Given the description of an element on the screen output the (x, y) to click on. 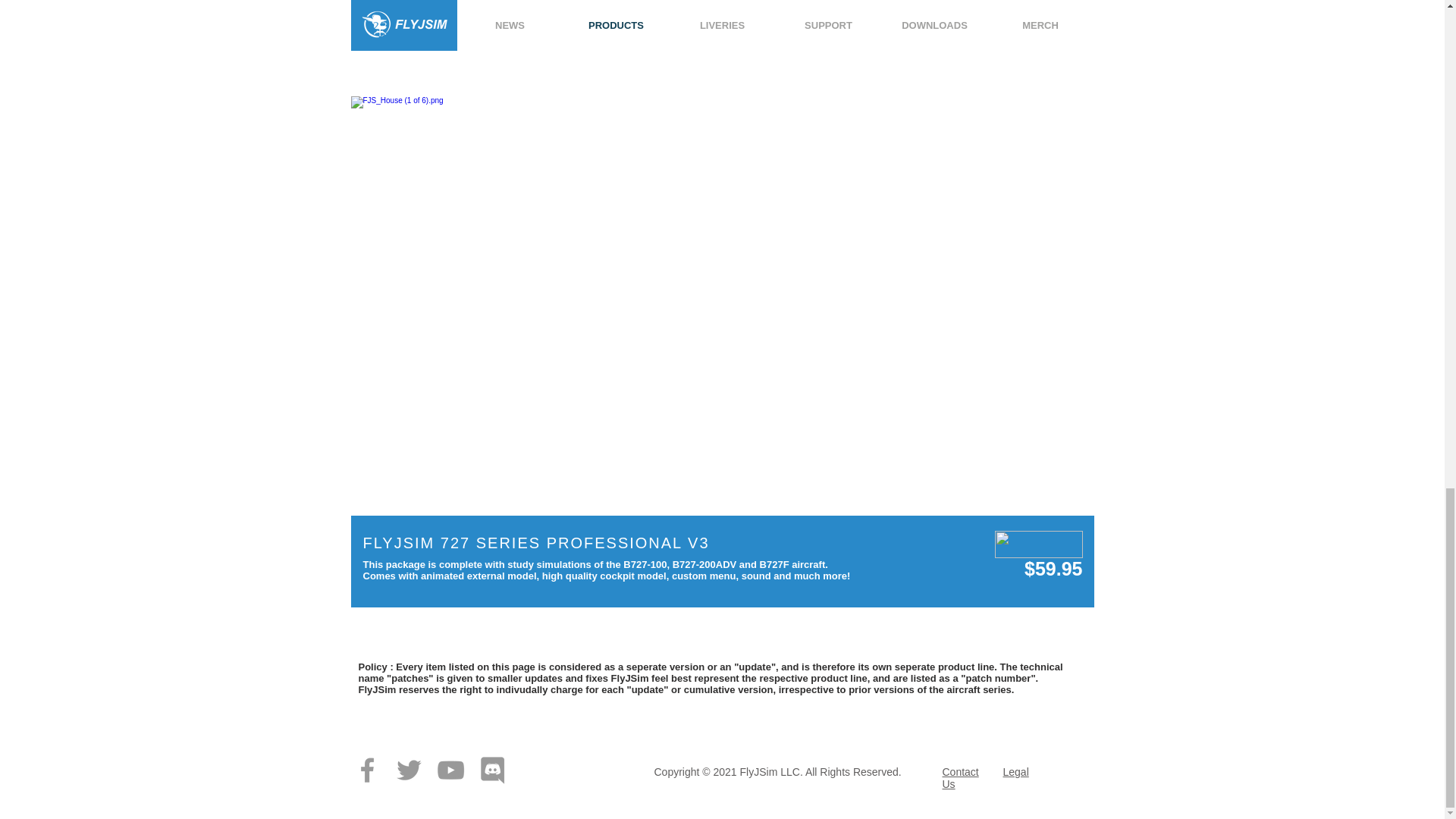
Contact Us (960, 777)
Legal (1015, 771)
